Given the description of an element on the screen output the (x, y) to click on. 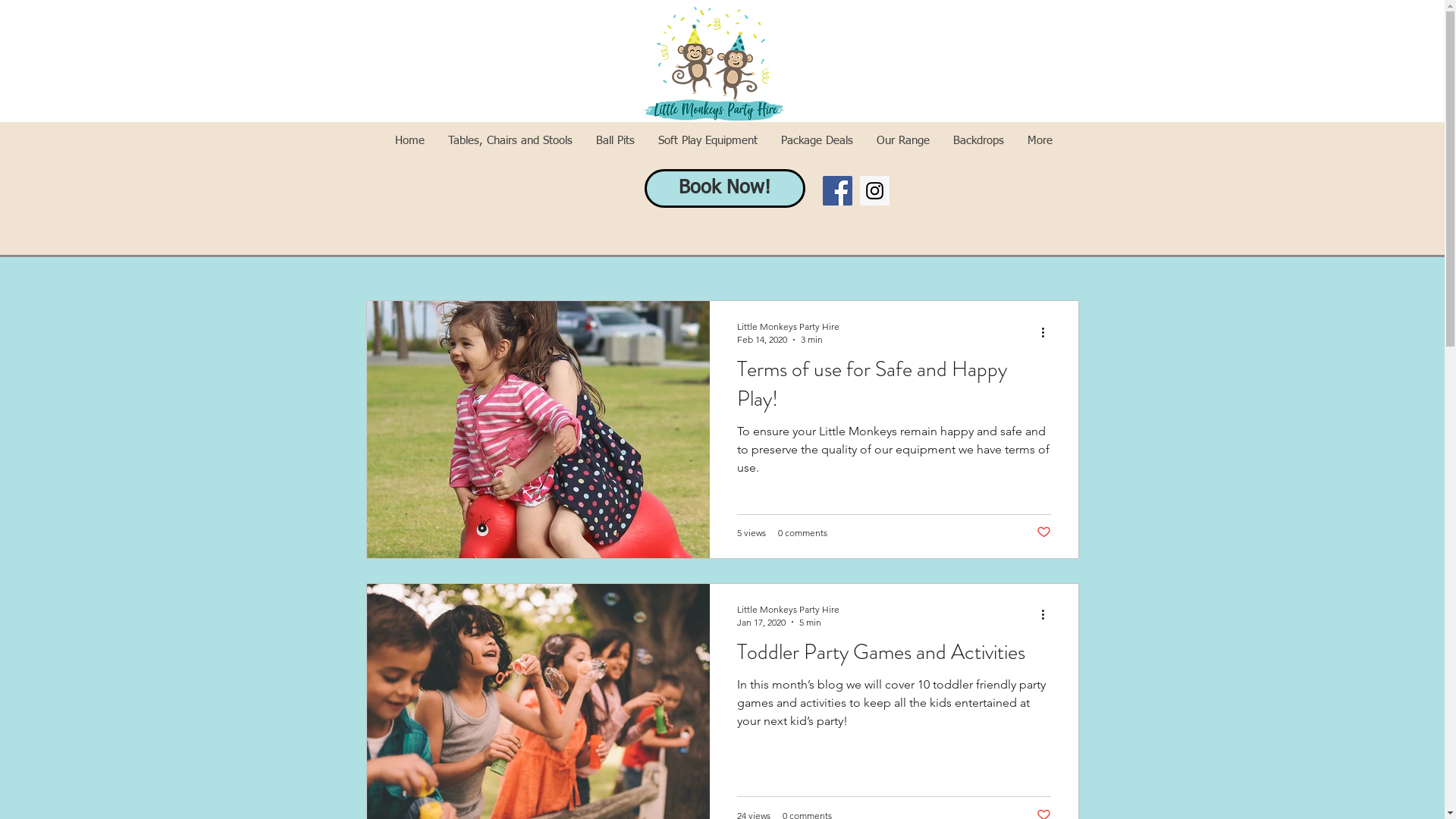
Package Deals Element type: text (816, 140)
Our Range Element type: text (902, 140)
Toddler Party Games and Activities Element type: text (894, 656)
0 comments Element type: text (802, 532)
Little Monkeys Party Hire Element type: text (788, 326)
Home Element type: text (409, 140)
Soft Play Equipment Element type: text (707, 140)
Terms of use for Safe and Happy Play! Element type: text (894, 388)
Backdrops Element type: text (978, 140)
Little Monkeys Party Hire Element type: text (788, 609)
Tables, Chairs and Stools Element type: text (509, 140)
Post not marked as liked Element type: text (1042, 532)
Book Now! Element type: text (724, 188)
Ball Pits Element type: text (614, 140)
